Given the description of an element on the screen output the (x, y) to click on. 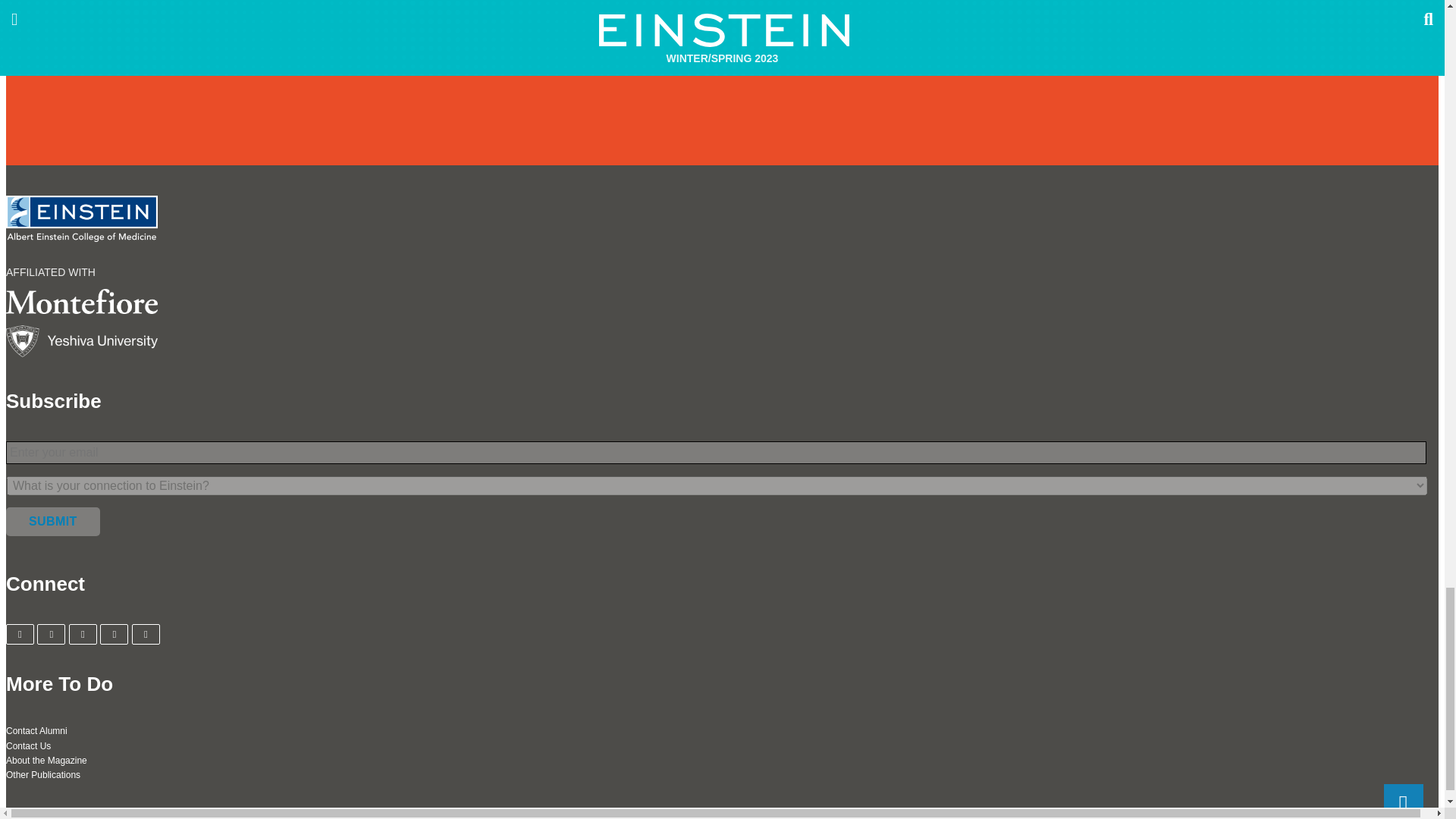
Yeshiva University (721, 340)
Submit (52, 521)
